Given the description of an element on the screen output the (x, y) to click on. 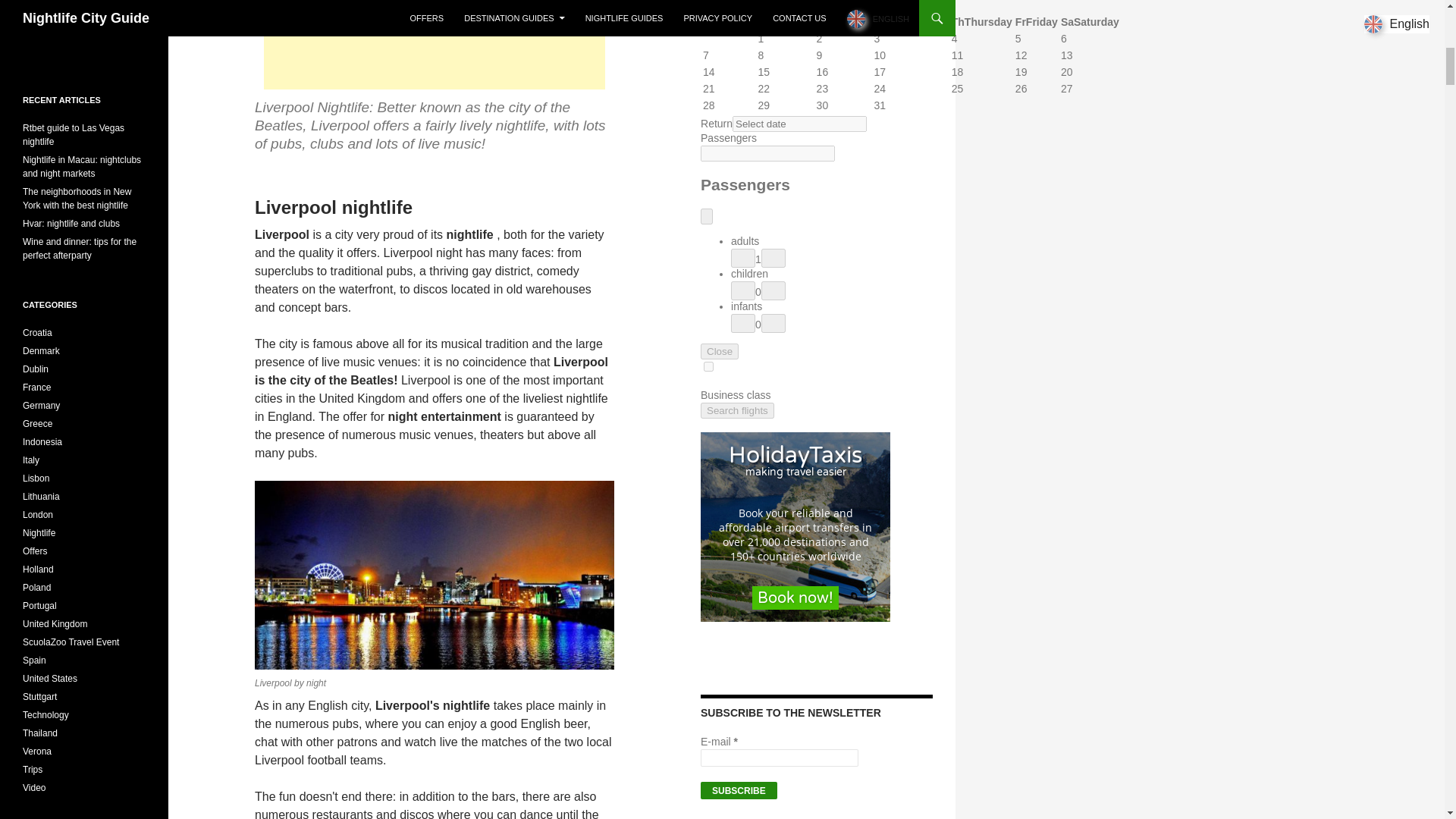
subscribe (738, 790)
Advertisement (434, 44)
